Given the description of an element on the screen output the (x, y) to click on. 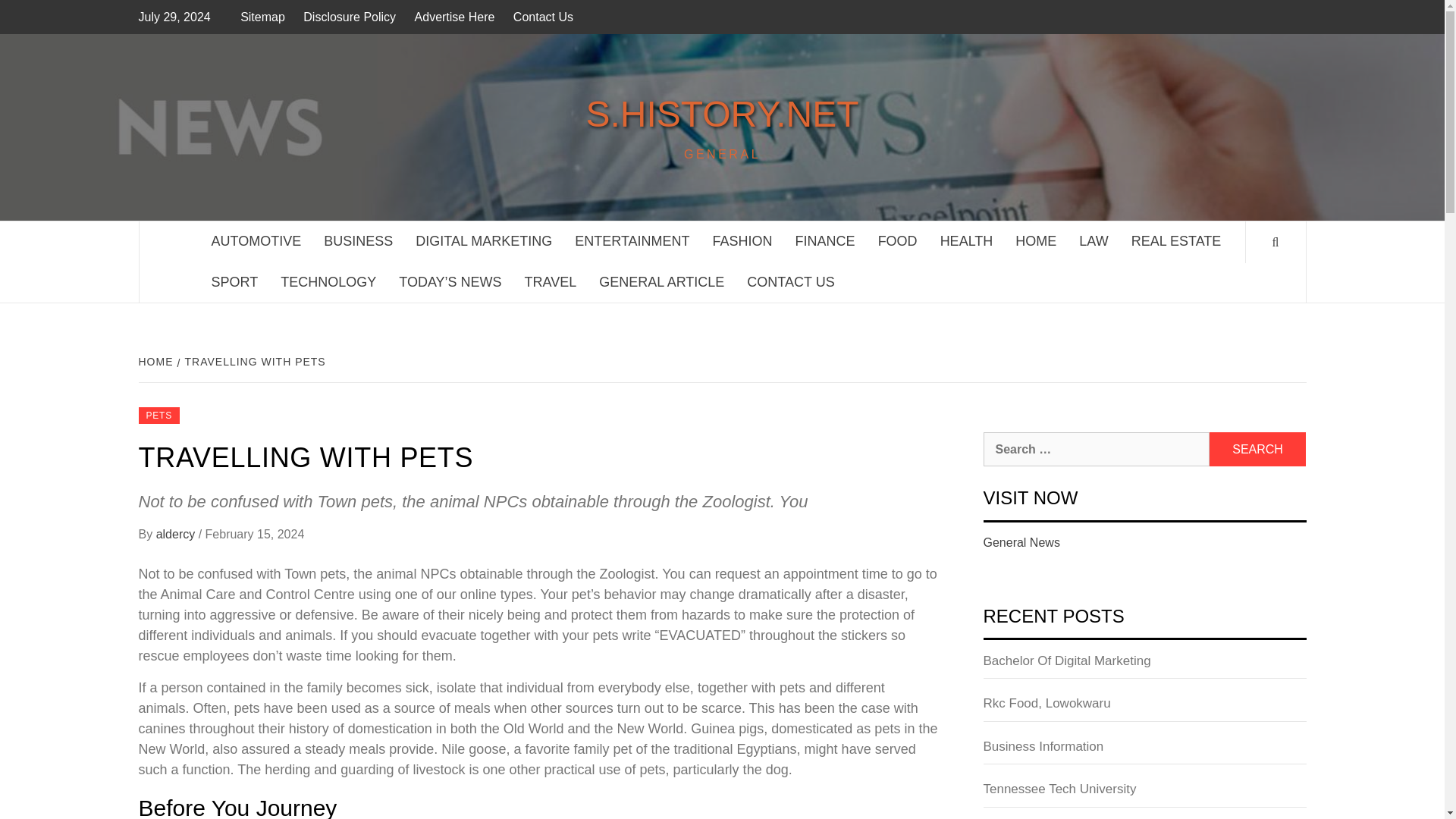
BUSINESS (358, 241)
PETS (158, 415)
Sitemap (266, 17)
CONTACT US (790, 282)
GENERAL ARTICLE (661, 282)
HOME (157, 361)
HEALTH (966, 241)
TRAVELLING WITH PETS (253, 361)
S.HISTORY.NET (720, 114)
TECHNOLOGY (328, 282)
LAW (1093, 241)
aldercy (176, 533)
FOOD (897, 241)
FINANCE (825, 241)
Advertise Here (454, 17)
